Given the description of an element on the screen output the (x, y) to click on. 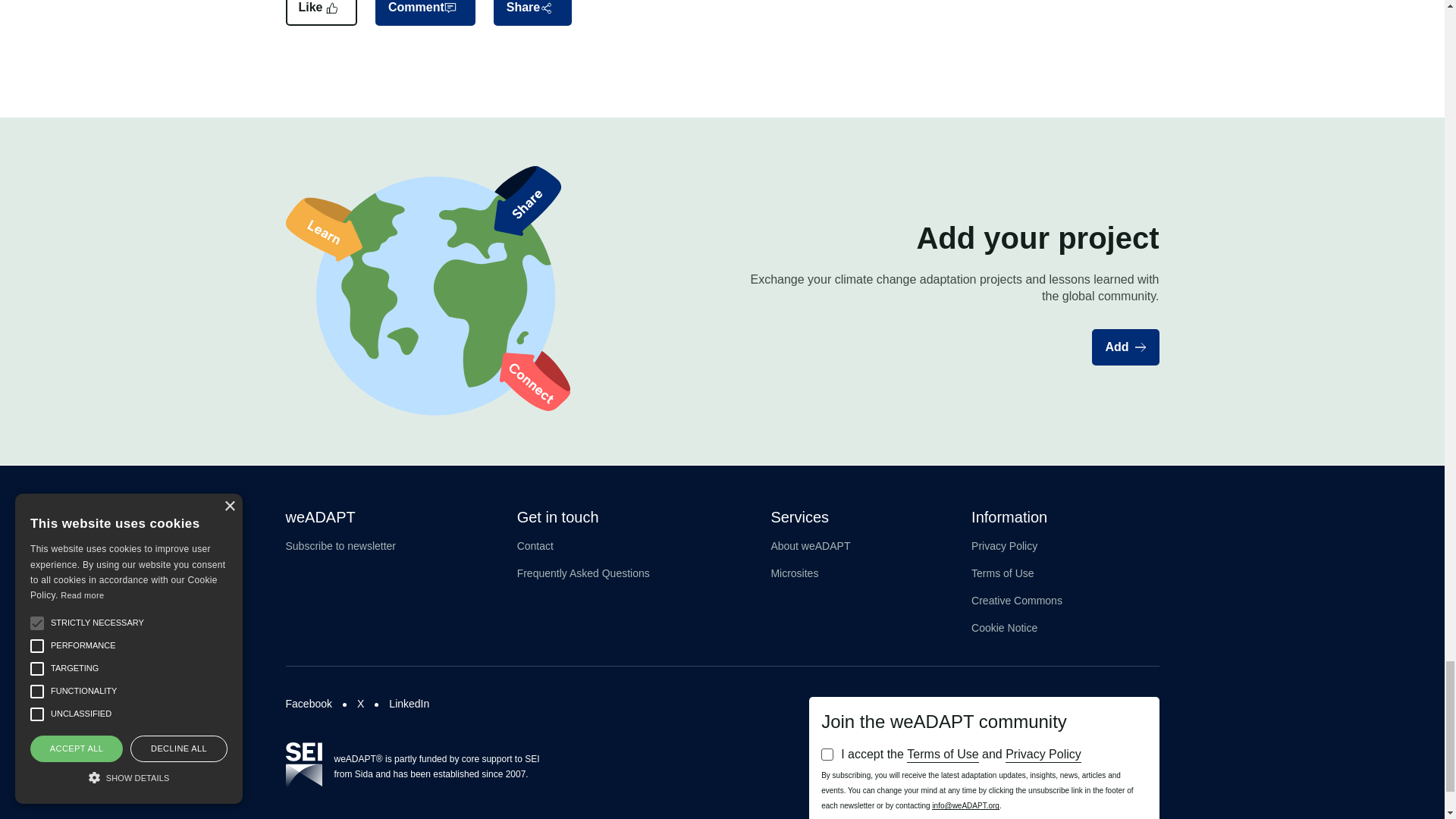
1 (826, 754)
